Given the description of an element on the screen output the (x, y) to click on. 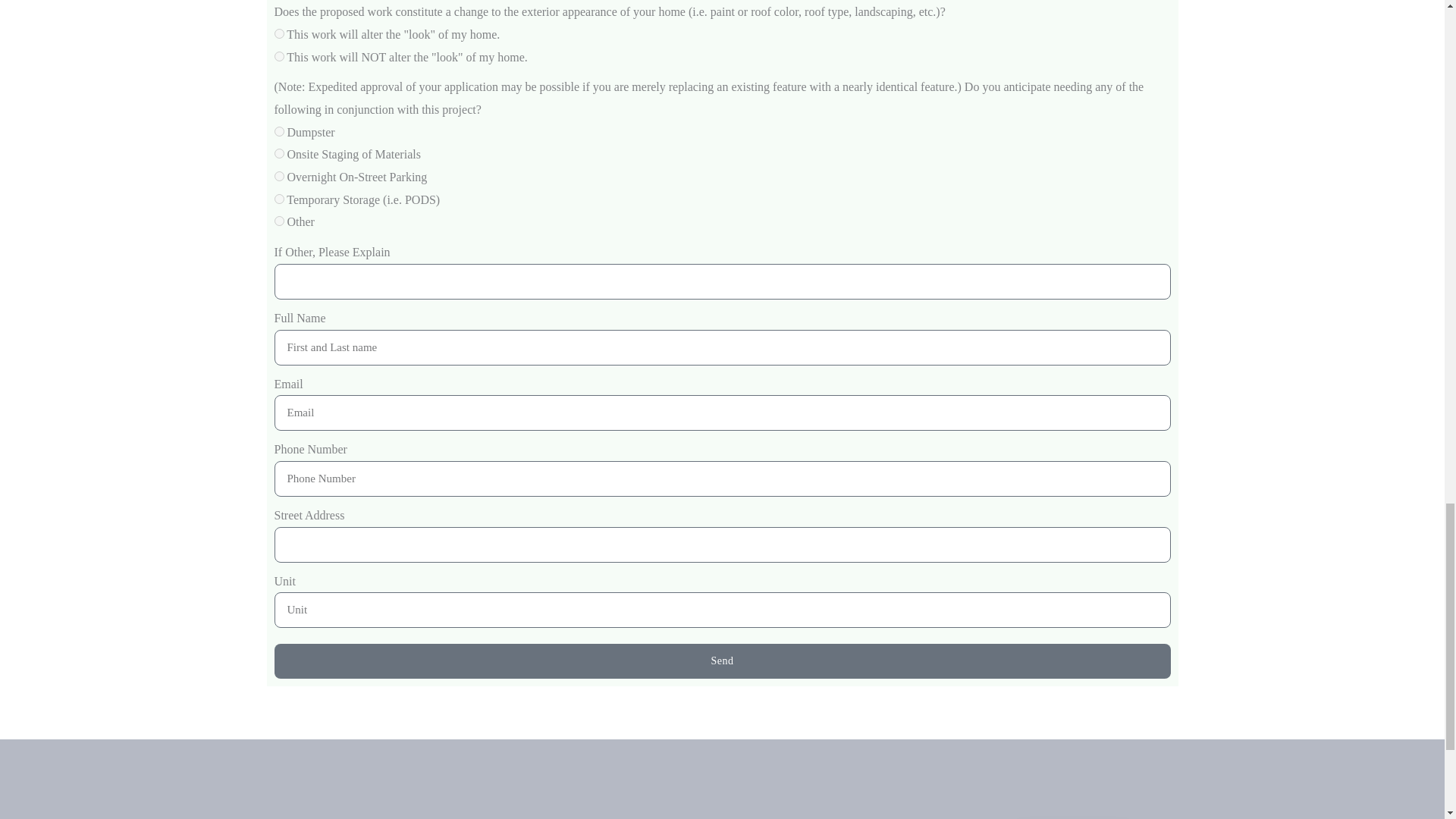
This work will NOT alter the "look" of my home. (279, 56)
Onsite Staging of Materials  (279, 153)
Other (279, 221)
Overnight On-Street Parking (279, 175)
This work will alter the "look" of my home. (279, 33)
Dumpster (279, 131)
